Given the description of an element on the screen output the (x, y) to click on. 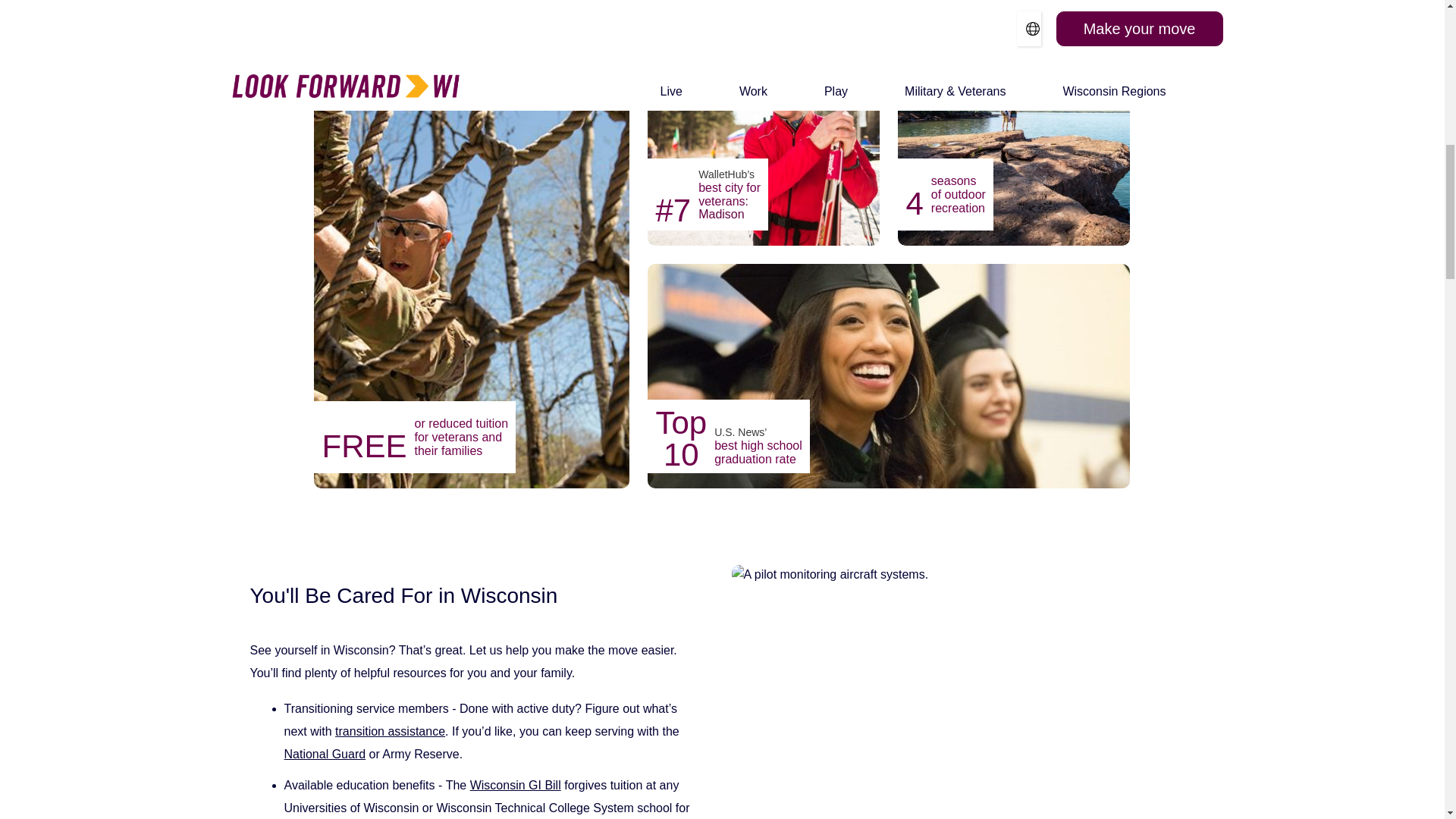
Wisconsin GI Bill (515, 784)
transition assistance (389, 730)
National Guard (324, 753)
